Given the description of an element on the screen output the (x, y) to click on. 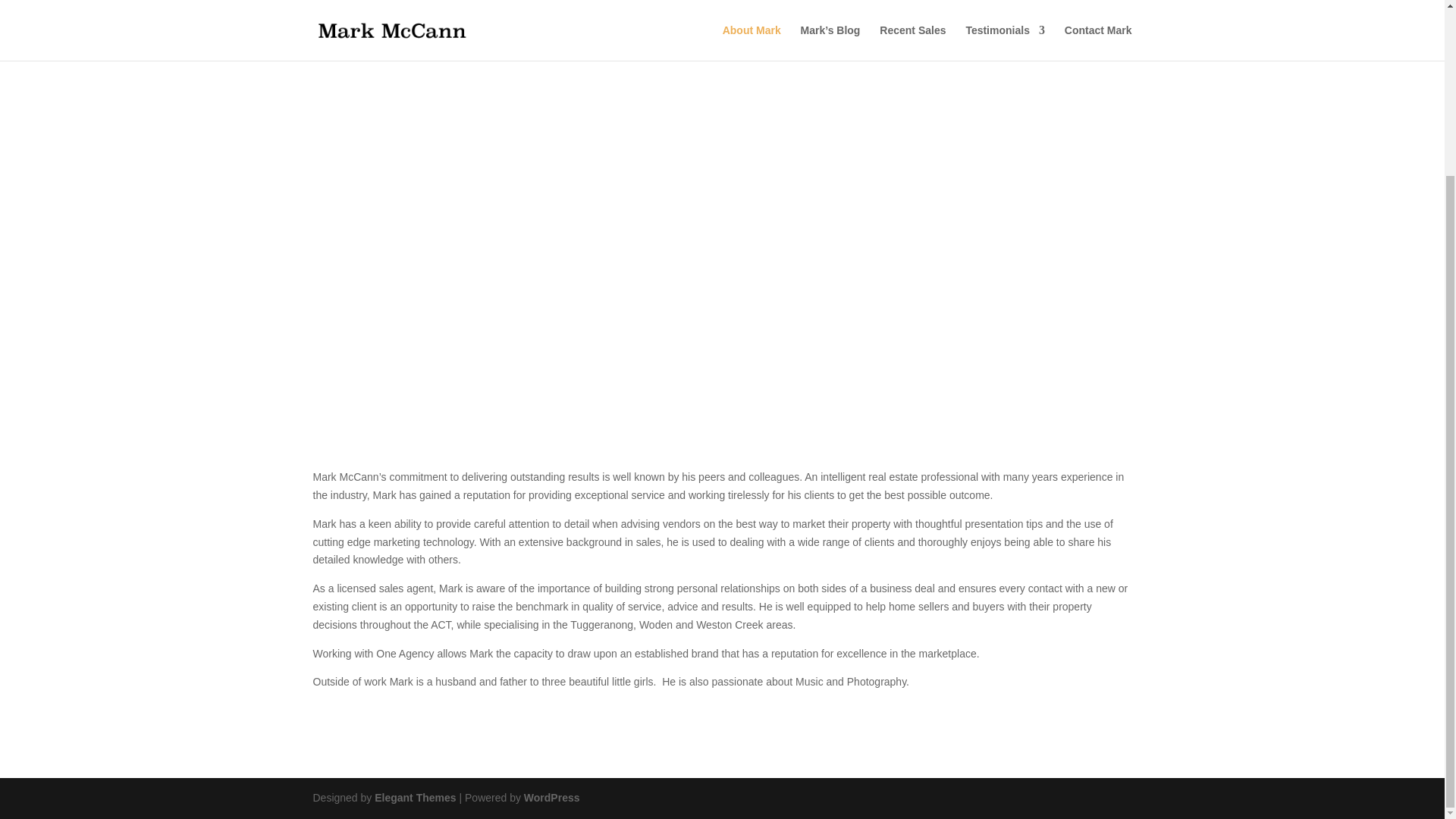
WordPress (551, 797)
Premium WordPress Themes (414, 797)
Elegant Themes (414, 797)
